Given the description of an element on the screen output the (x, y) to click on. 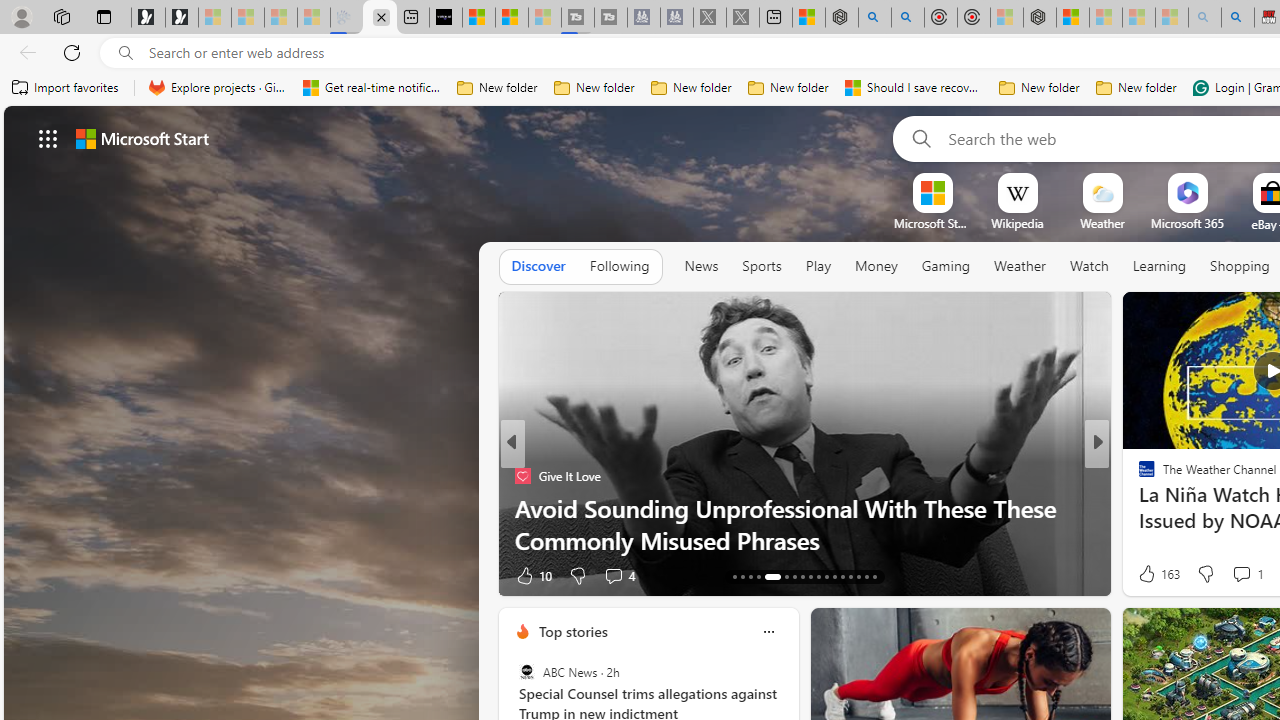
Top stories (572, 631)
View comments 124 Comment (1234, 575)
492 Like (1151, 574)
TechRadar (1138, 475)
Newsletter Sign Up (182, 17)
